Given the description of an element on the screen output the (x, y) to click on. 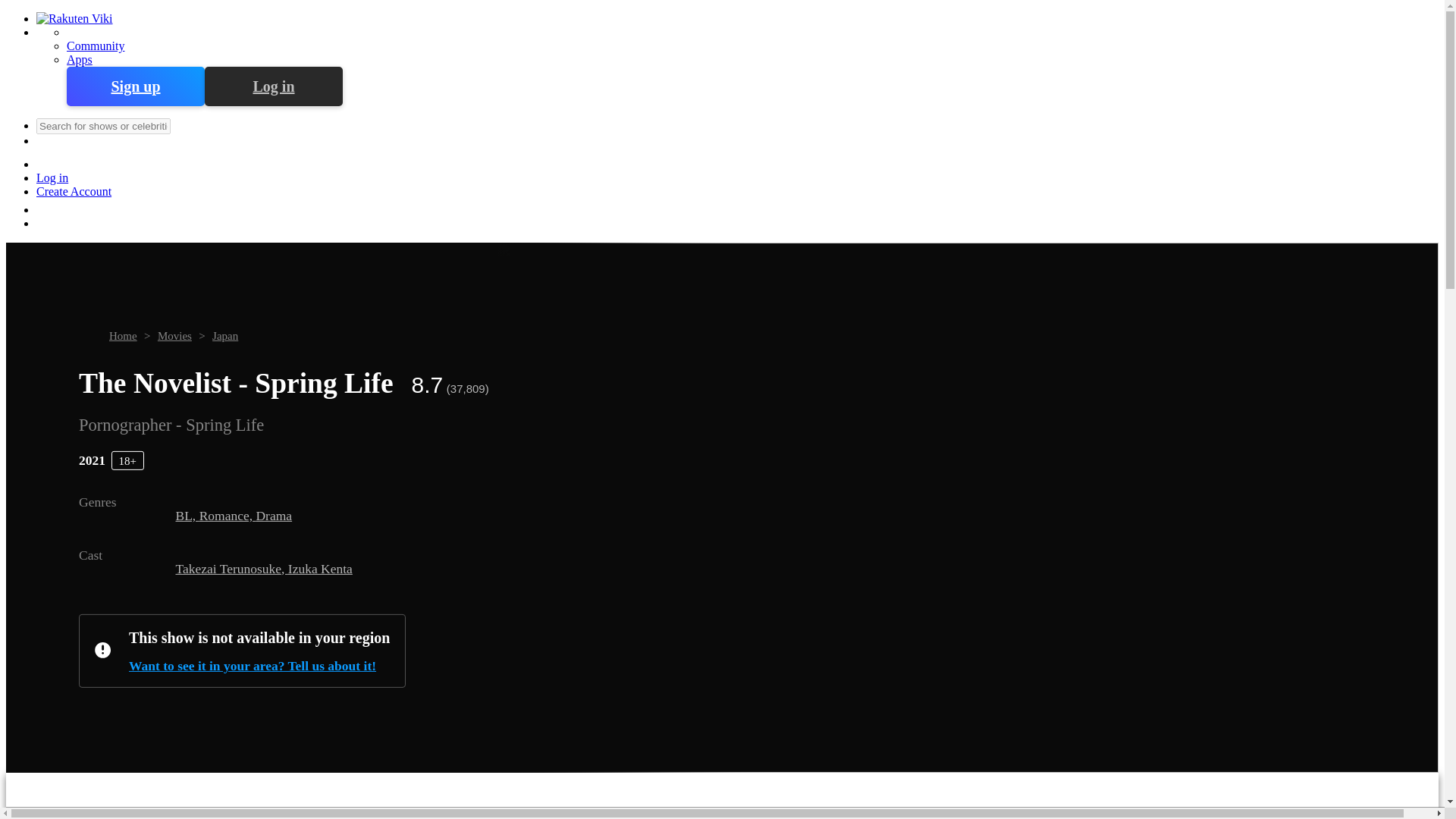
Romance, (227, 515)
Drama (274, 515)
Log in (273, 86)
Want to see it in your area? Tell us about it! (259, 665)
Movies (174, 336)
Sign up (135, 86)
BL, (187, 515)
Izuka Kenta (320, 567)
Apps (79, 59)
Subtitle team (657, 796)
